Given the description of an element on the screen output the (x, y) to click on. 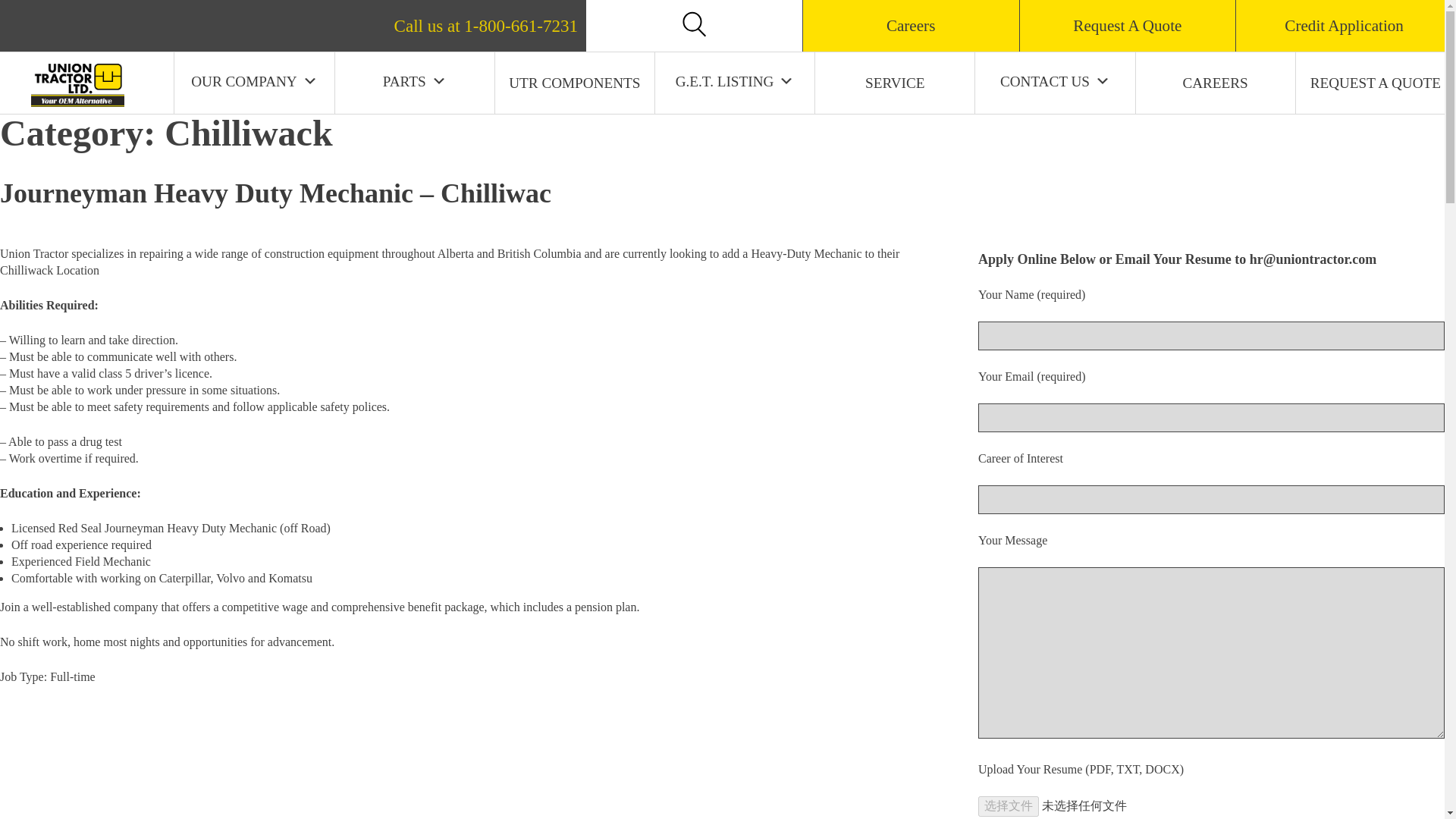
Request A Quote (1126, 26)
REQUEST A QUOTE (1375, 83)
Credit Application (1343, 26)
CAREERS (1214, 83)
SERVICE (894, 83)
PARTS (414, 80)
Careers (910, 26)
Call us at 1-800-661-7231 (722, 17)
G.E.T. LISTING (734, 80)
CONTACT US (1054, 80)
